Given the description of an element on the screen output the (x, y) to click on. 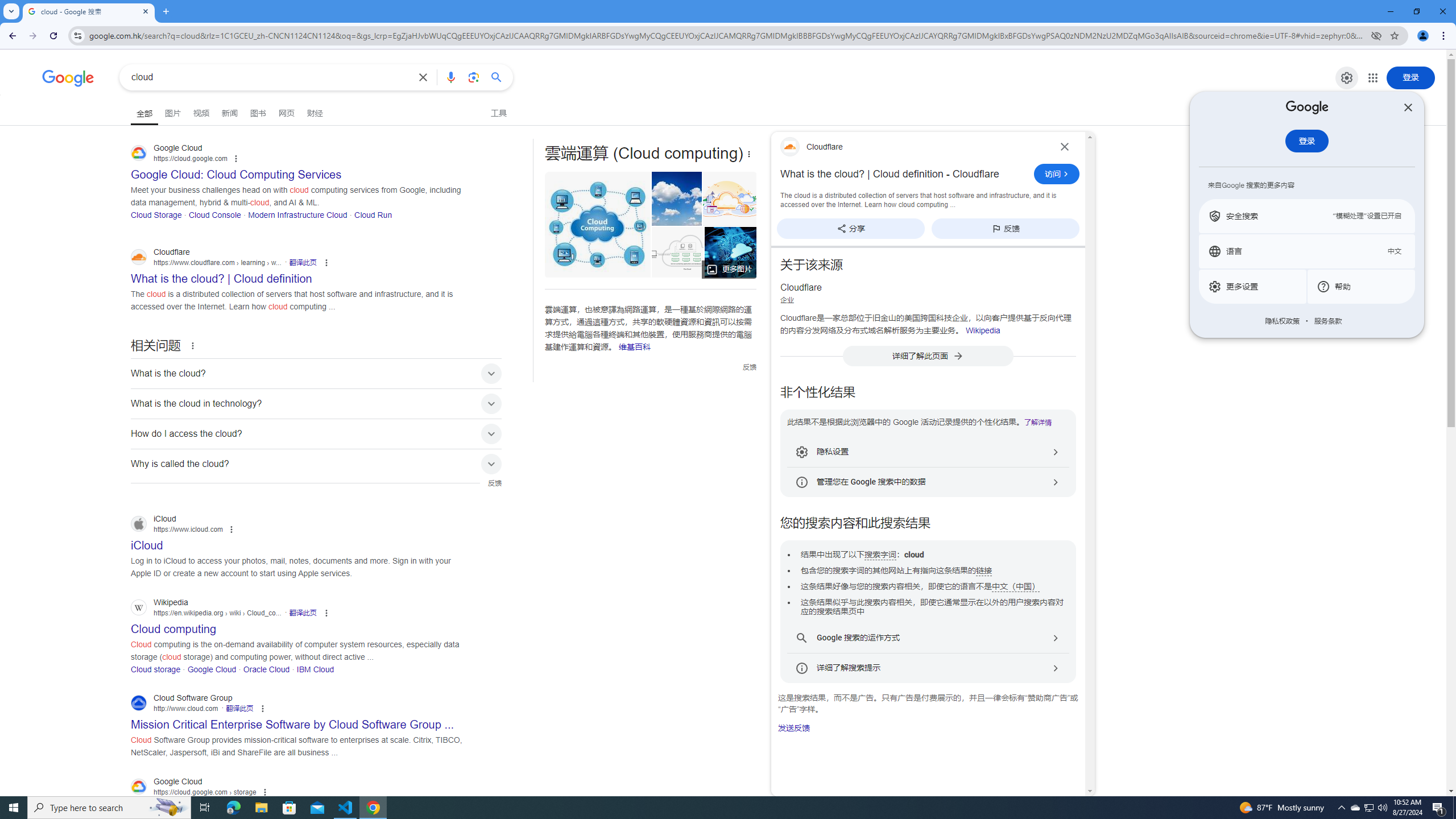
What is cloud computing? Everything you need to know now ... (730, 251)
Wikipedia (982, 330)
Connectivity Cloud | Cloudflare (726, 198)
